Given the description of an element on the screen output the (x, y) to click on. 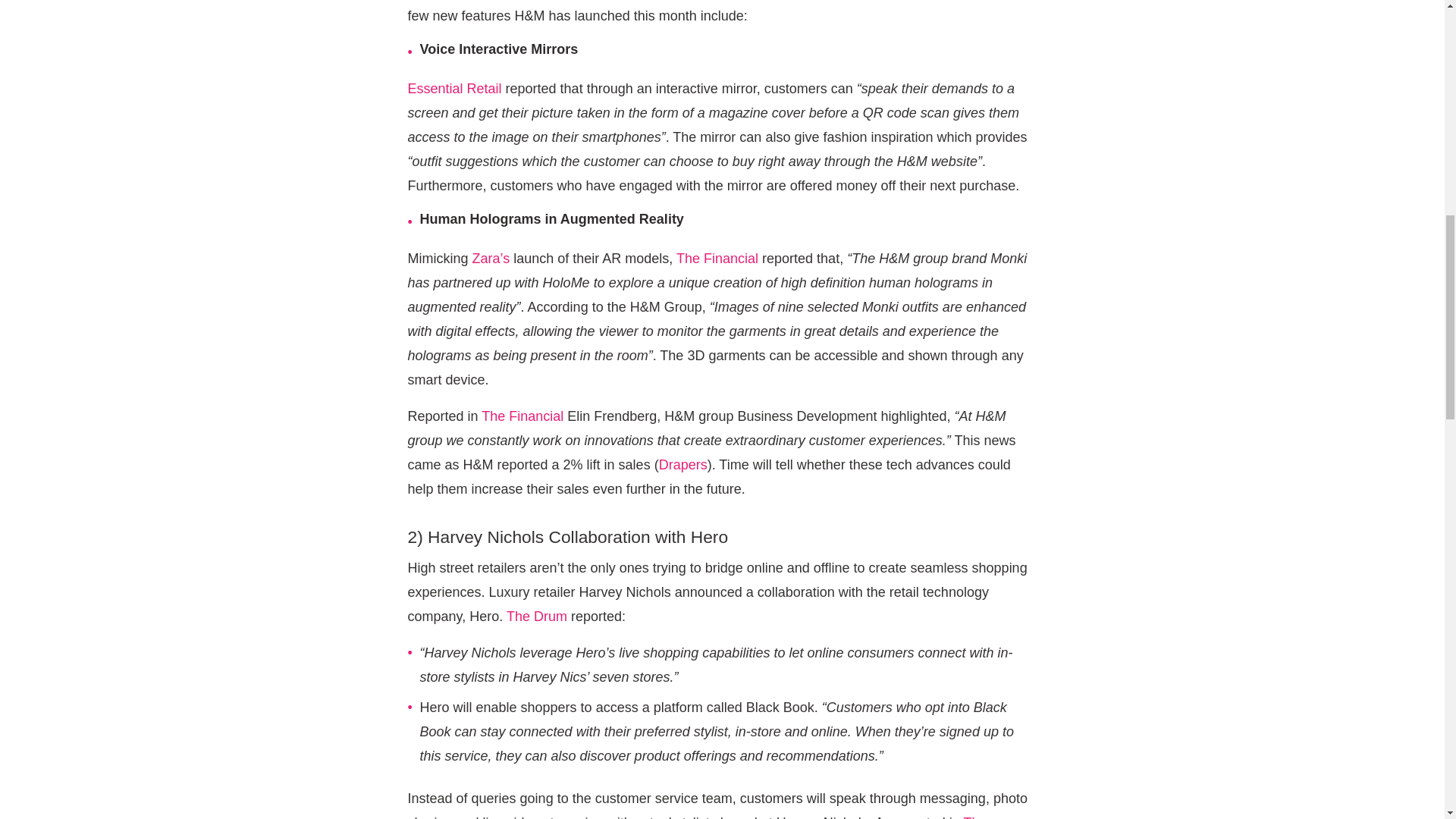
The Financial (522, 416)
Essential Retail (454, 88)
Drapers (683, 464)
The Drum (536, 616)
The Financial (717, 258)
